Given the description of an element on the screen output the (x, y) to click on. 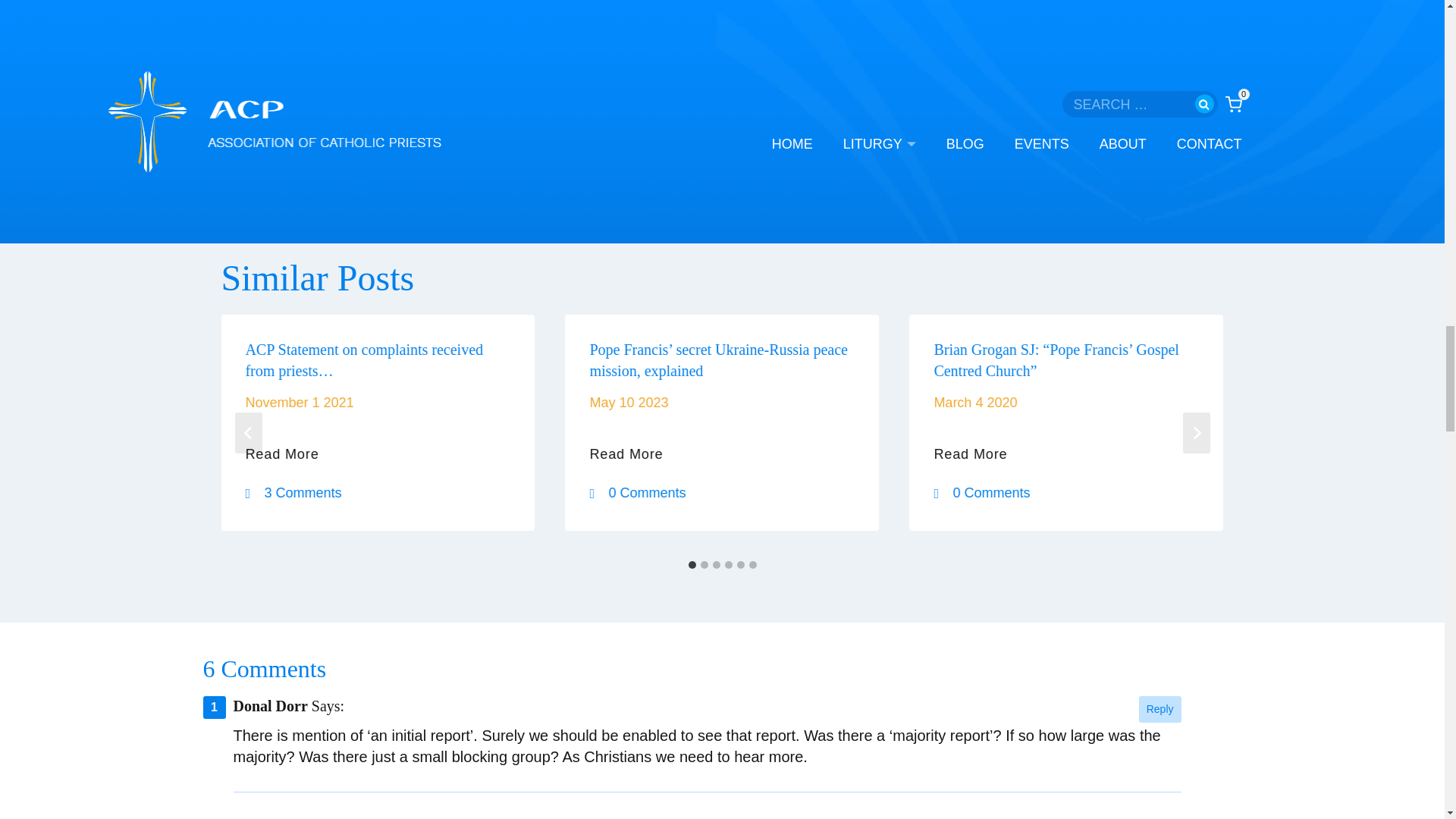
0 Comments (984, 492)
3 Comments (296, 492)
0 Comments (641, 492)
